Given the description of an element on the screen output the (x, y) to click on. 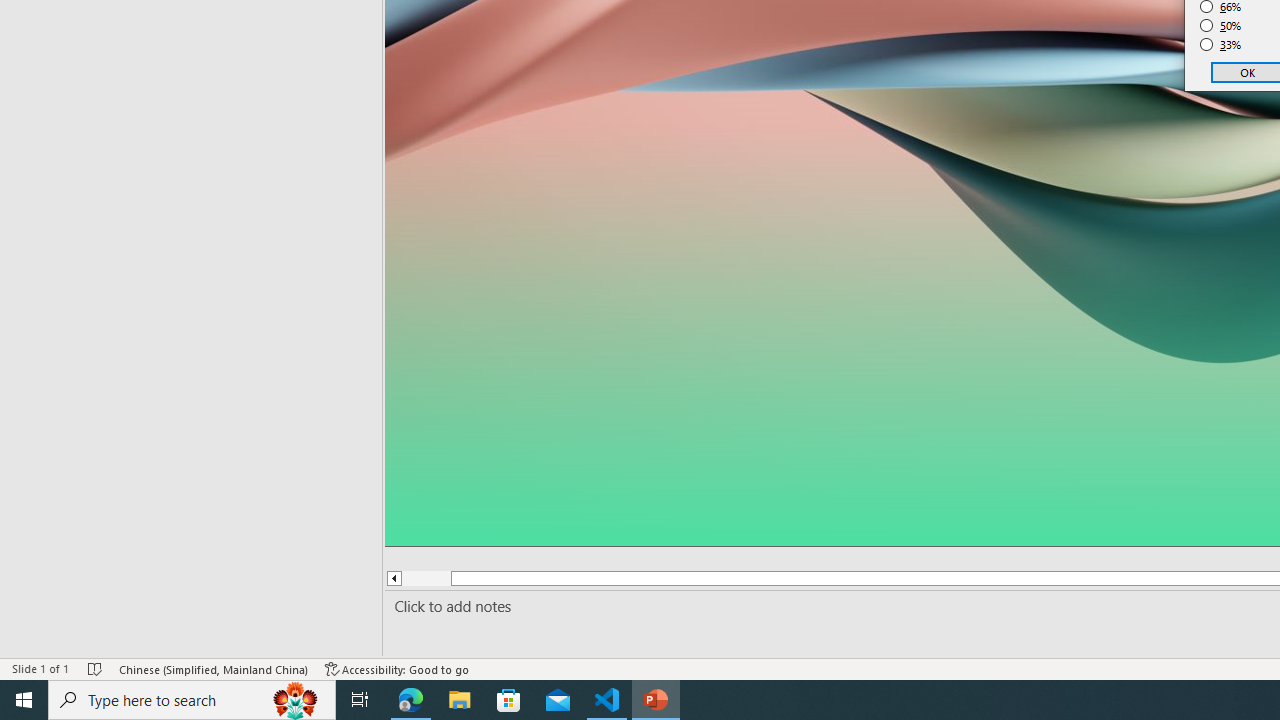
PowerPoint - 1 running window (656, 699)
Task View (359, 699)
Line up (393, 578)
Search highlights icon opens search home window (295, 699)
Visual Studio Code - 1 running window (607, 699)
33% (1221, 44)
Type here to search (191, 699)
Accessibility Checker Accessibility: Good to go (397, 668)
Microsoft Store (509, 699)
50% (1221, 25)
Start (24, 699)
Spell Check No Errors (95, 668)
Page up (425, 578)
File Explorer (460, 699)
